Given the description of an element on the screen output the (x, y) to click on. 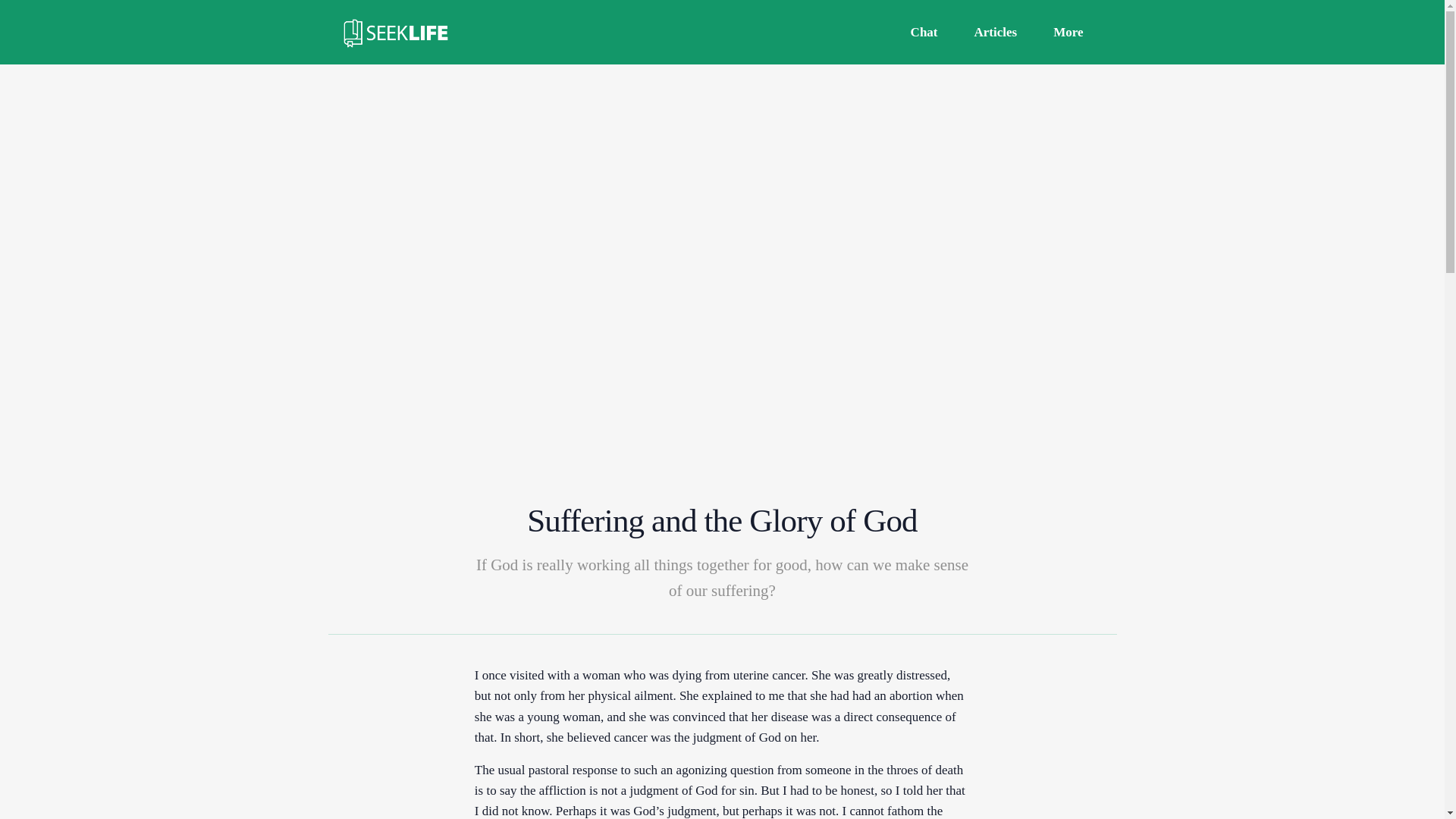
Chat (924, 31)
Articles (995, 31)
More (1067, 31)
